Given the description of an element on the screen output the (x, y) to click on. 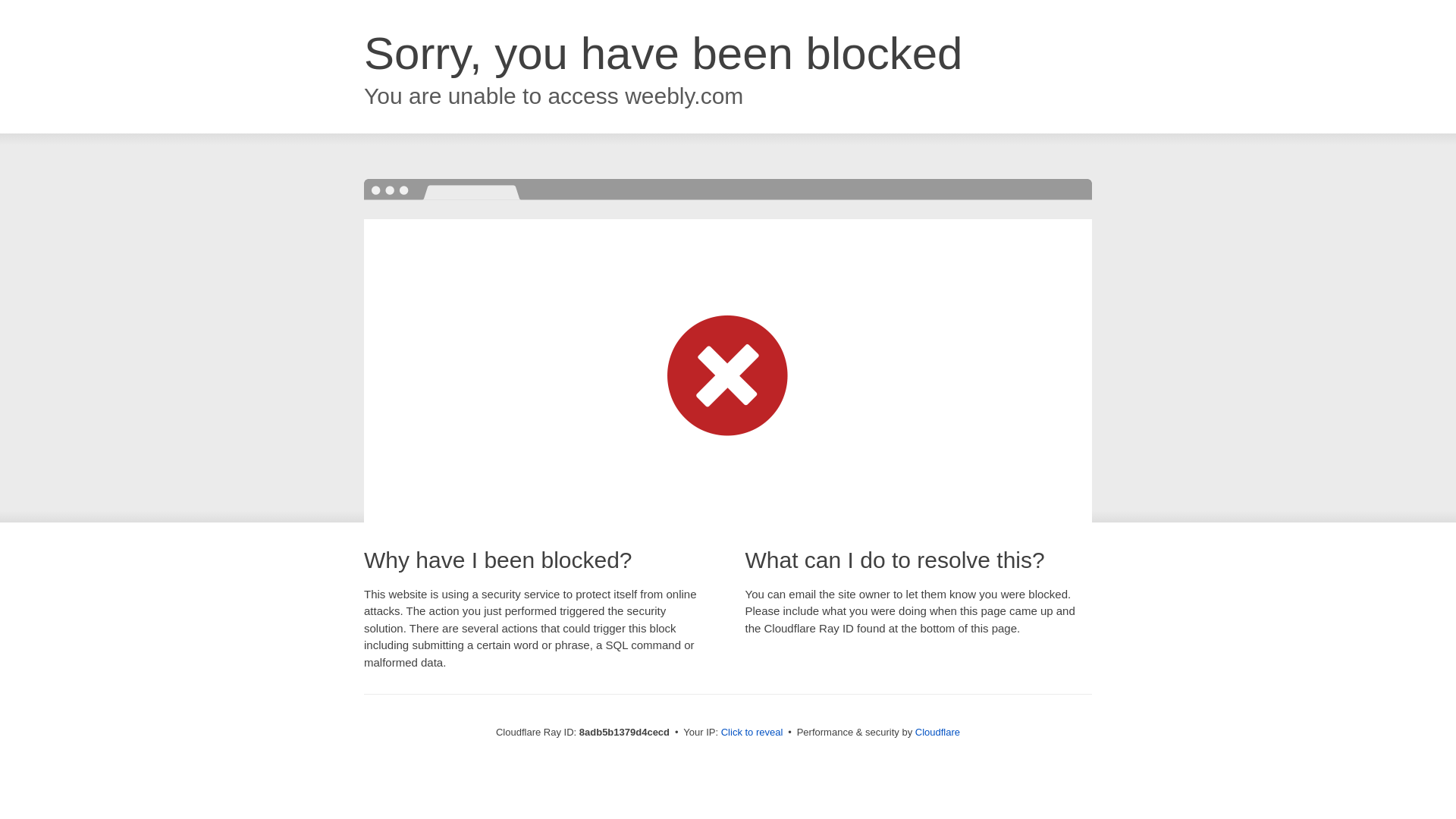
Cloudflare (937, 731)
Click to reveal (751, 732)
